Given the description of an element on the screen output the (x, y) to click on. 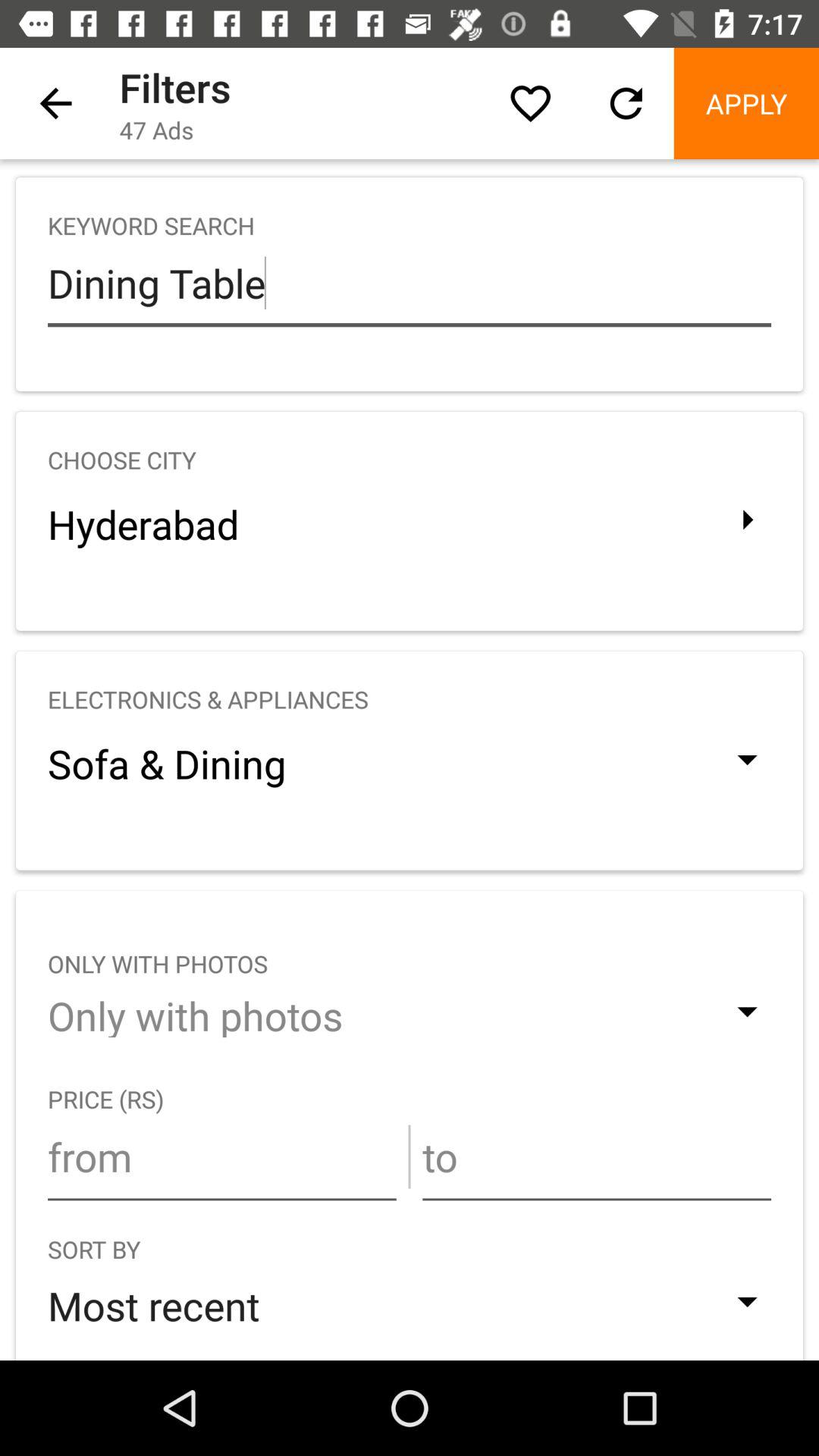
select the item at the bottom left corner (221, 1156)
